Given the description of an element on the screen output the (x, y) to click on. 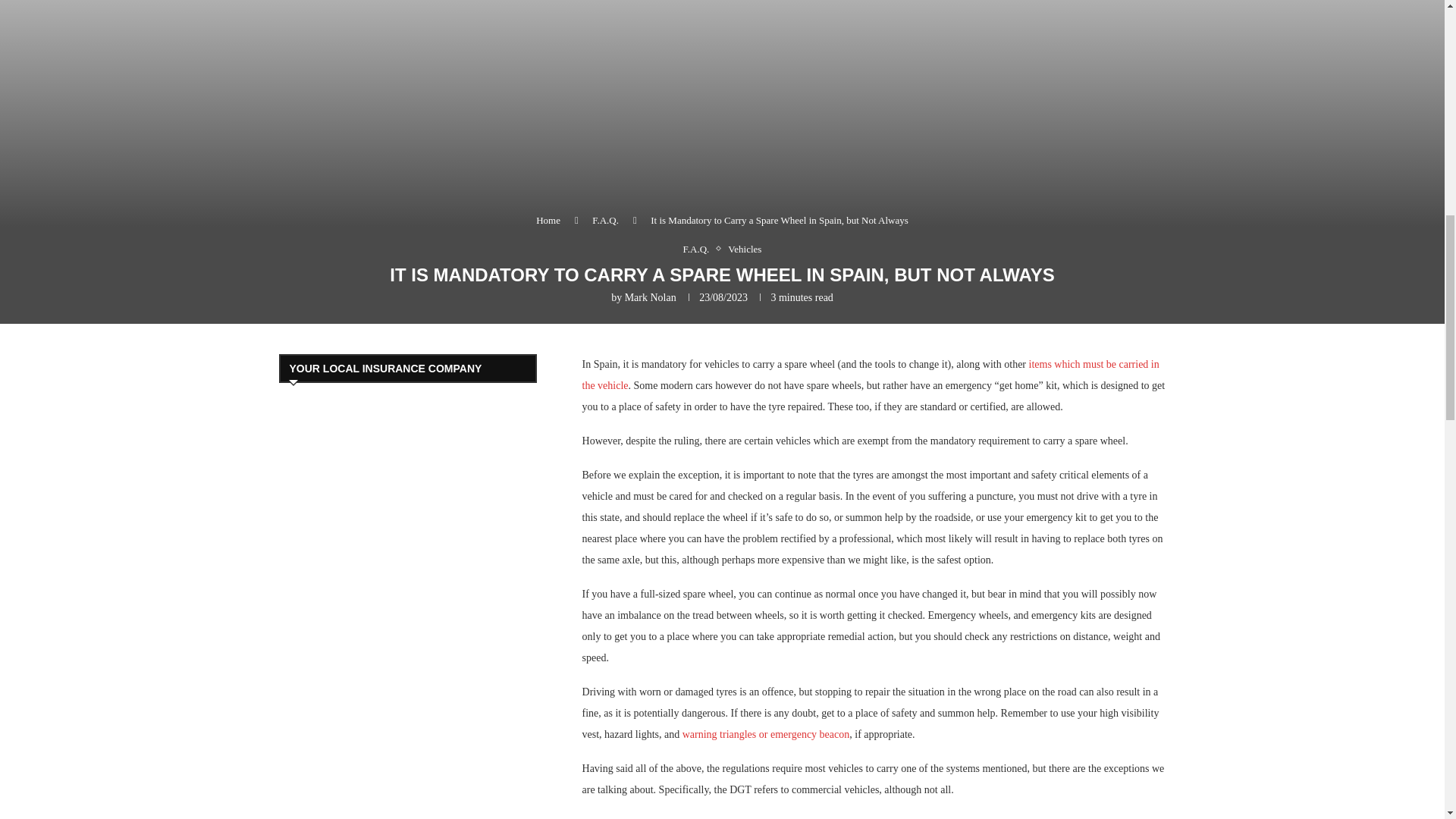
Mandatory Equipment When Driving In Spain (870, 374)
Changes to the use of warning triangles (766, 734)
